Given the description of an element on the screen output the (x, y) to click on. 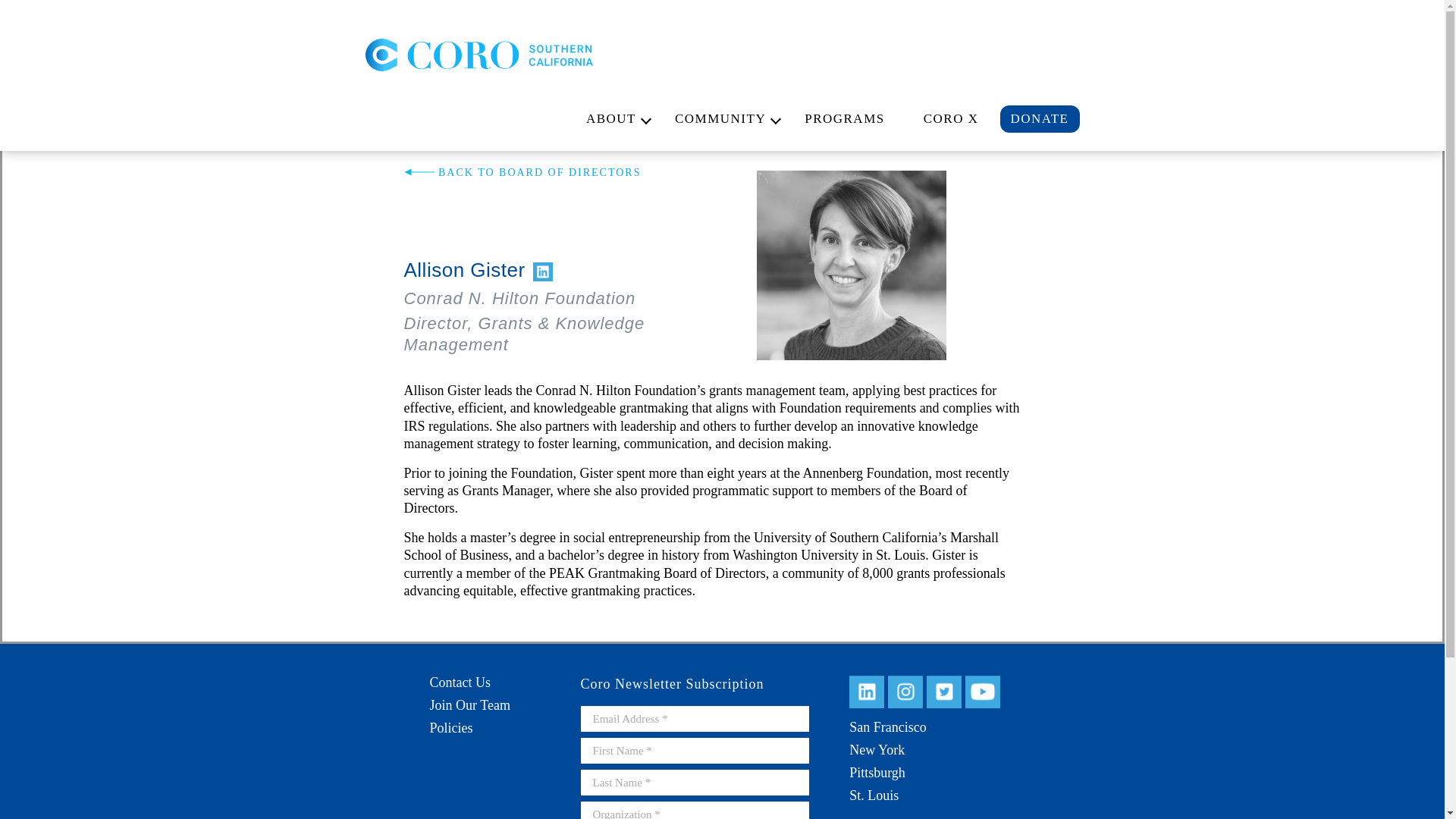
DONATE (1038, 118)
San Francisco (887, 726)
Pittsburgh (876, 772)
PROGRAMS (844, 119)
St. Louis (873, 795)
Contact Us (459, 682)
Policies (450, 727)
BACK TO BOARD OF DIRECTORS (521, 172)
CORO X (950, 119)
New York (876, 749)
ABOUT (611, 119)
Join Our Team (469, 704)
COMMUNITY (720, 119)
